Given the description of an element on the screen output the (x, y) to click on. 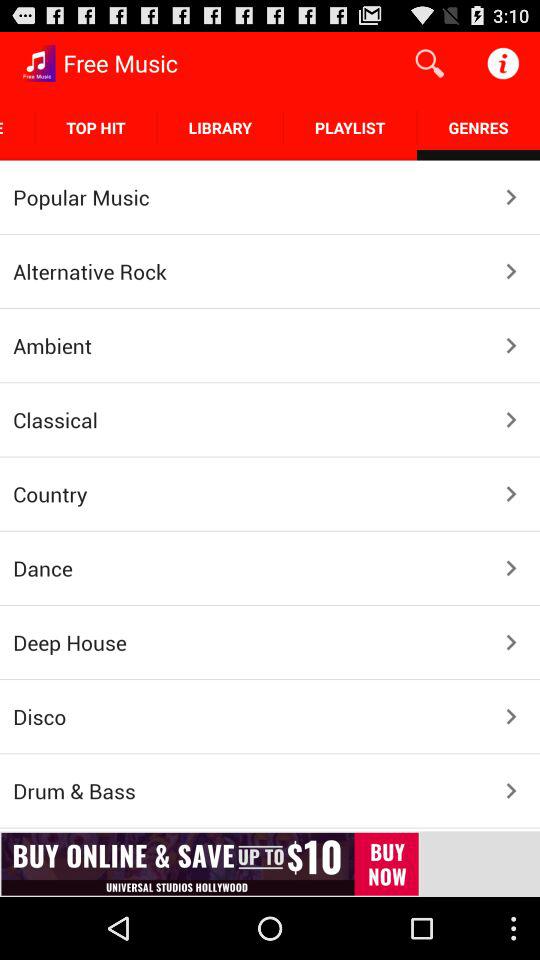
advertisement page (270, 864)
